Given the description of an element on the screen output the (x, y) to click on. 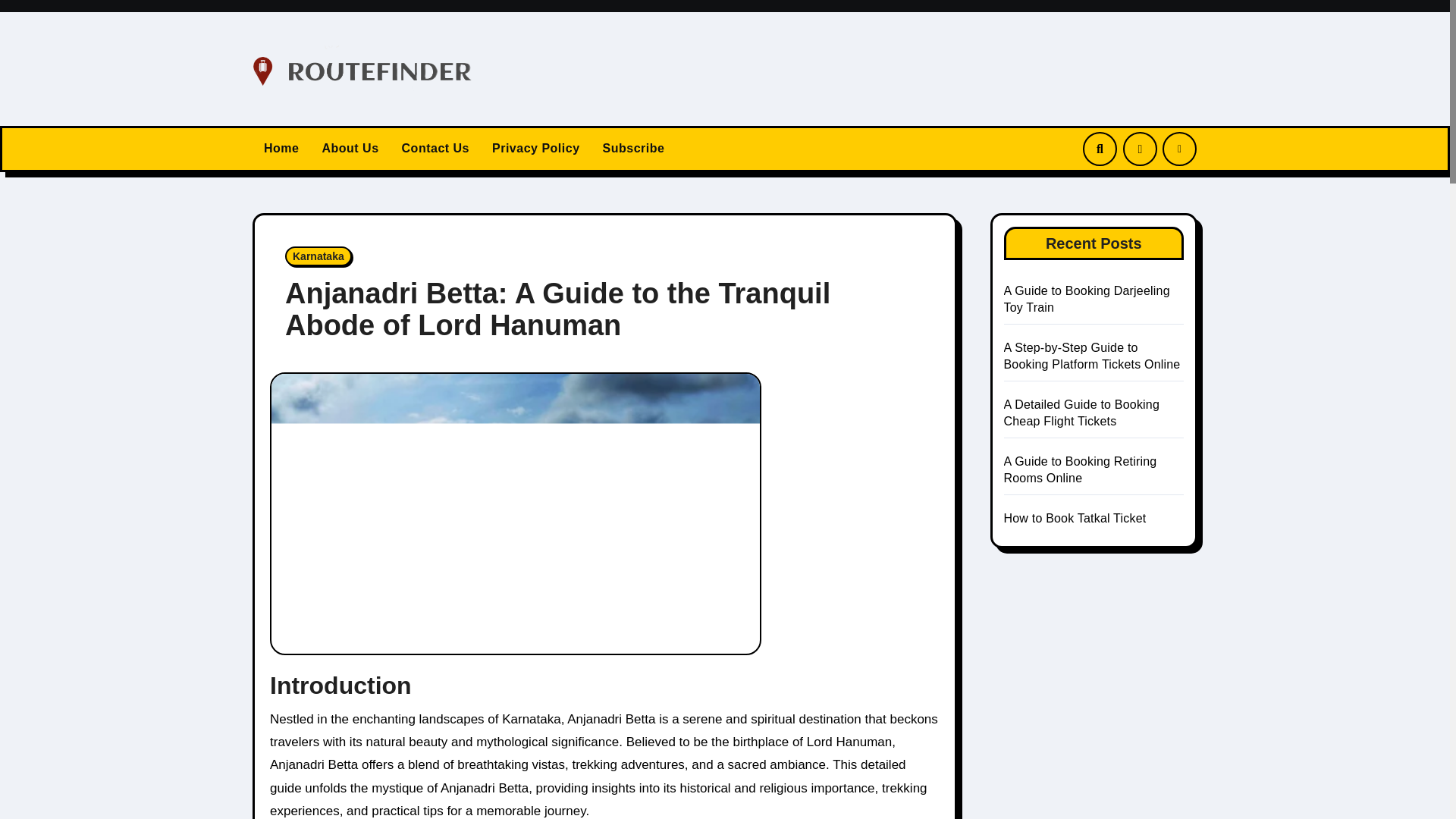
Karnataka (318, 256)
Subscribe (634, 148)
Privacy Policy (535, 148)
About Us (350, 148)
Contact Us (435, 148)
Home (280, 148)
Home (280, 148)
